Given the description of an element on the screen output the (x, y) to click on. 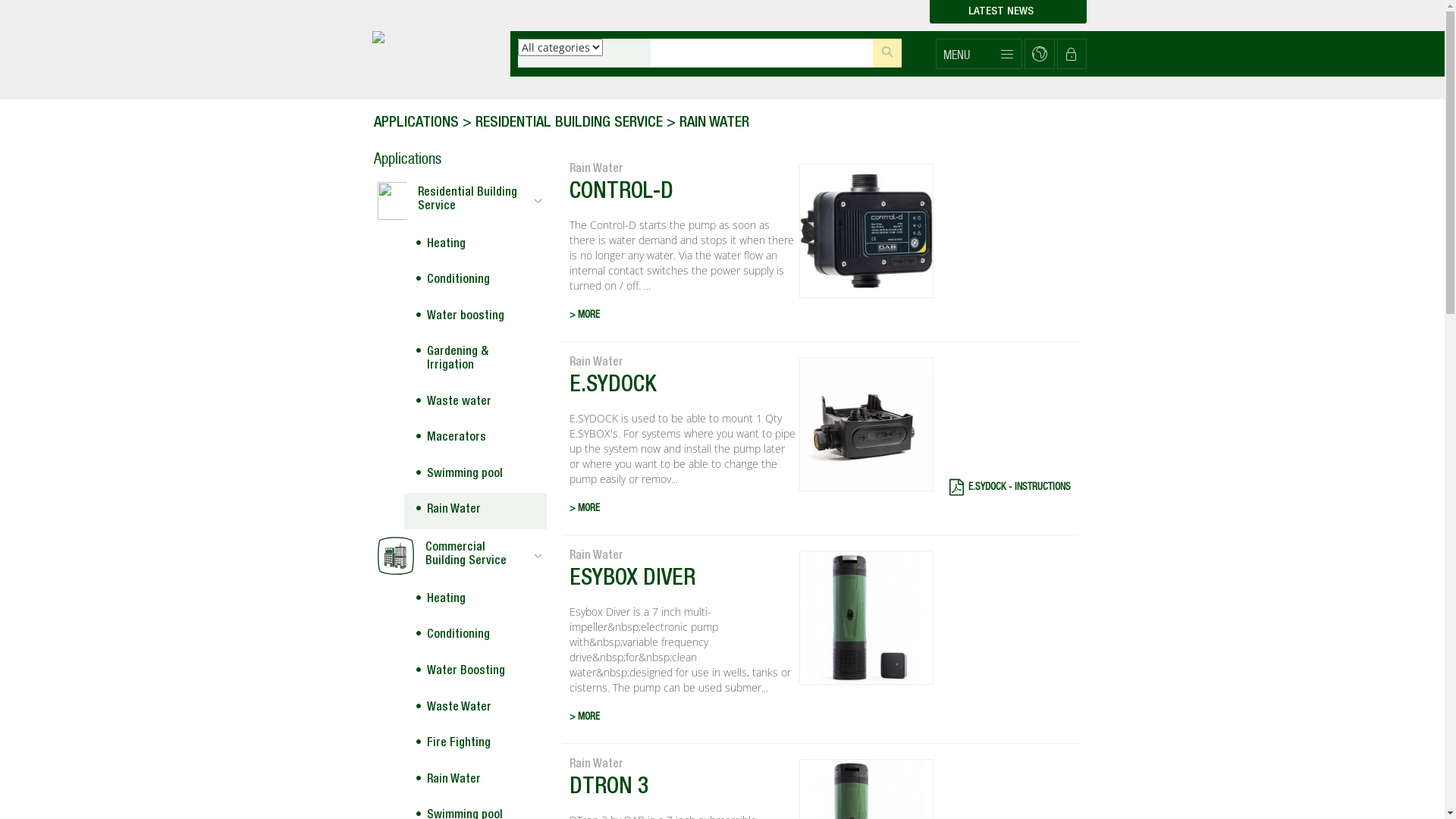
Macerators Element type: text (474, 438)
MENU Element type: text (977, 53)
Waste water Element type: text (474, 403)
RESIDENTIAL BUILDING SERVICE Element type: text (568, 123)
Heating Element type: text (474, 600)
Conditioning Element type: text (474, 281)
> MORE Element type: text (681, 509)
Conditioning Element type: text (474, 636)
Residential Building Service Element type: text (459, 200)
Gardening & Irrigation Element type: text (474, 359)
Fire Fighting Element type: text (474, 744)
Rain Water Element type: text (474, 510)
Commercial Building Service Element type: text (459, 555)
> MORE Element type: text (681, 314)
E.SYDOCK - INSTRUCTIONS Element type: text (1011, 486)
Water boosting Element type: text (474, 317)
Heating Element type: text (474, 245)
Swimming pool Element type: text (474, 475)
E.SYDOCK Element type: text (681, 388)
LATEST NEWS Element type: text (1007, 11)
> MORE Element type: text (681, 717)
CONTROL-D Element type: text (681, 195)
DTRON 3 Element type: text (681, 790)
Insert search keys Element type: hover (761, 52)
Rain Water Element type: text (474, 780)
ESYBOX DIVER Element type: text (681, 582)
Water Boosting Element type: text (474, 672)
APPLICATIONS Element type: text (415, 123)
Waste Water Element type: text (474, 708)
Skip to main content Element type: text (0, 0)
